Given the description of an element on the screen output the (x, y) to click on. 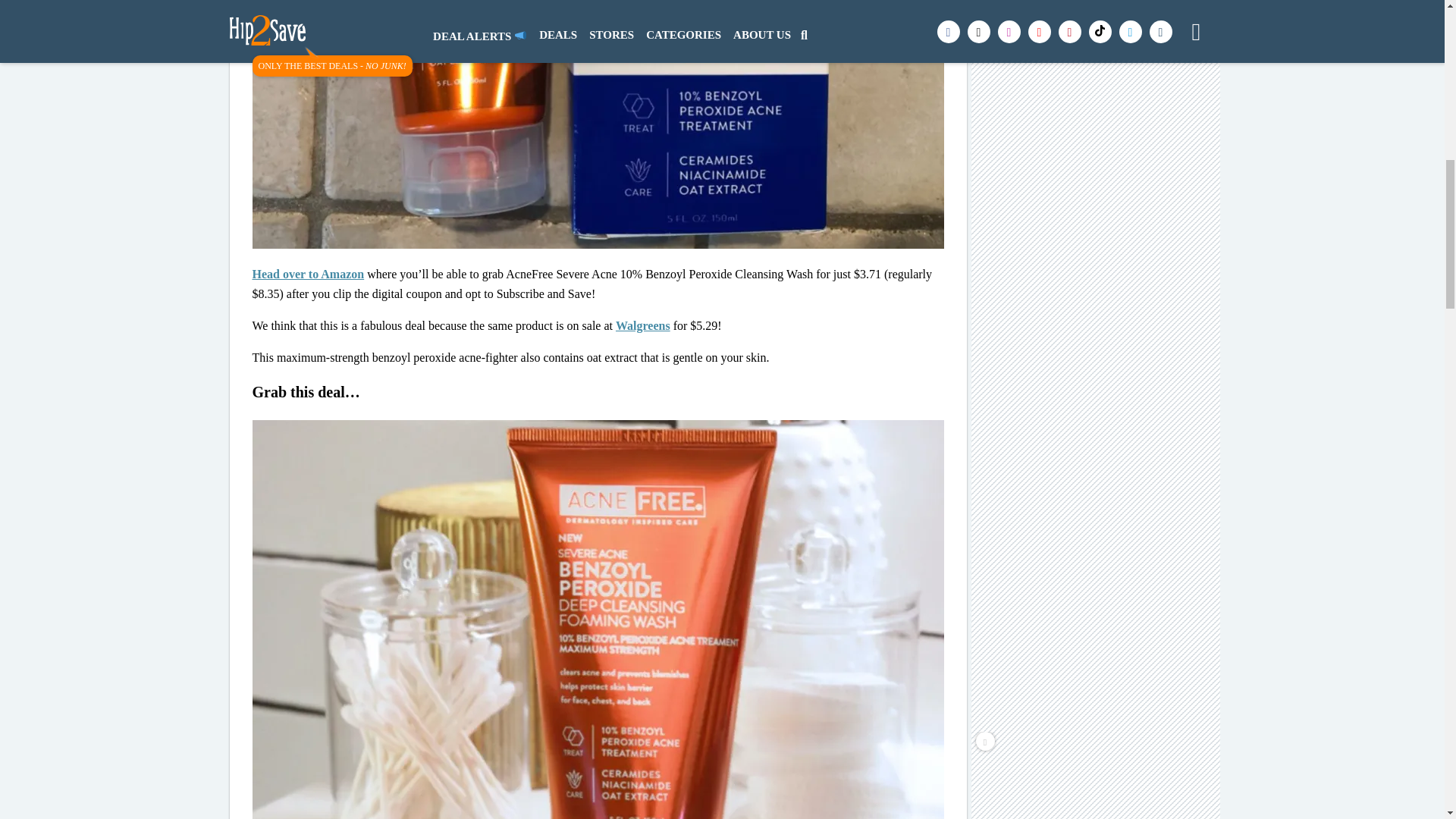
3rd party ad content (1095, 235)
Walgreens (642, 325)
3rd party ad content (1095, 58)
Head over to Amazon (307, 273)
